Given the description of an element on the screen output the (x, y) to click on. 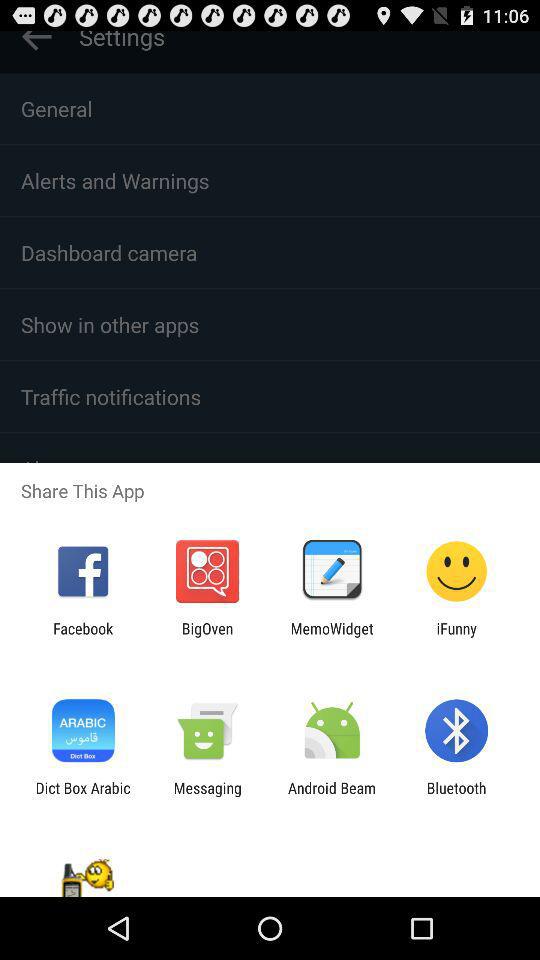
click the item next to bigoven icon (83, 637)
